Given the description of an element on the screen output the (x, y) to click on. 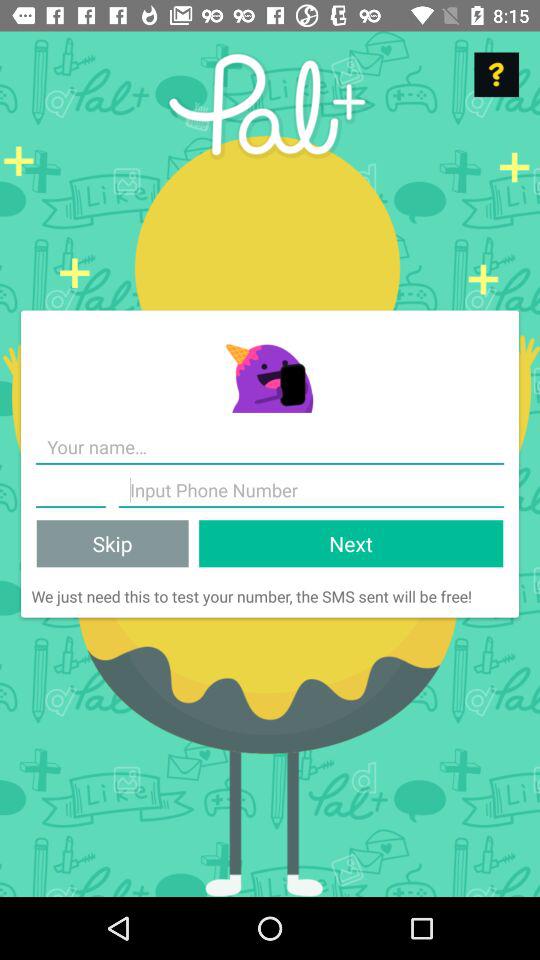
click the next item (351, 543)
